Given the description of an element on the screen output the (x, y) to click on. 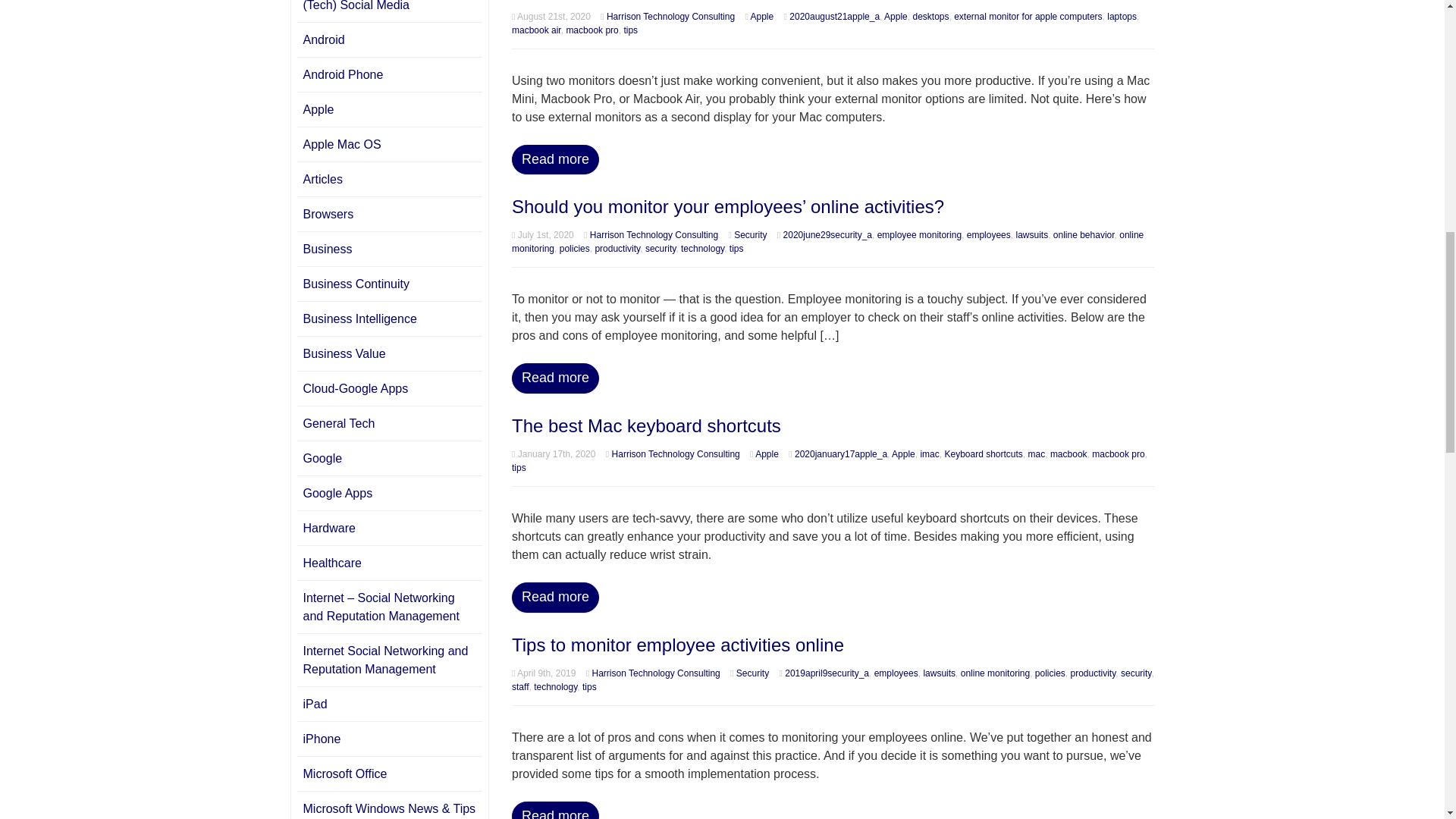
Posts by Harrison Technology Consulting (653, 235)
Posts by Harrison Technology Consulting (675, 453)
Tips to monitor employee activities online (678, 644)
The best Mac keyboard shortcuts (646, 425)
Posts by Harrison Technology Consulting (671, 16)
Posts by Harrison Technology Consulting (656, 673)
